Given the description of an element on the screen output the (x, y) to click on. 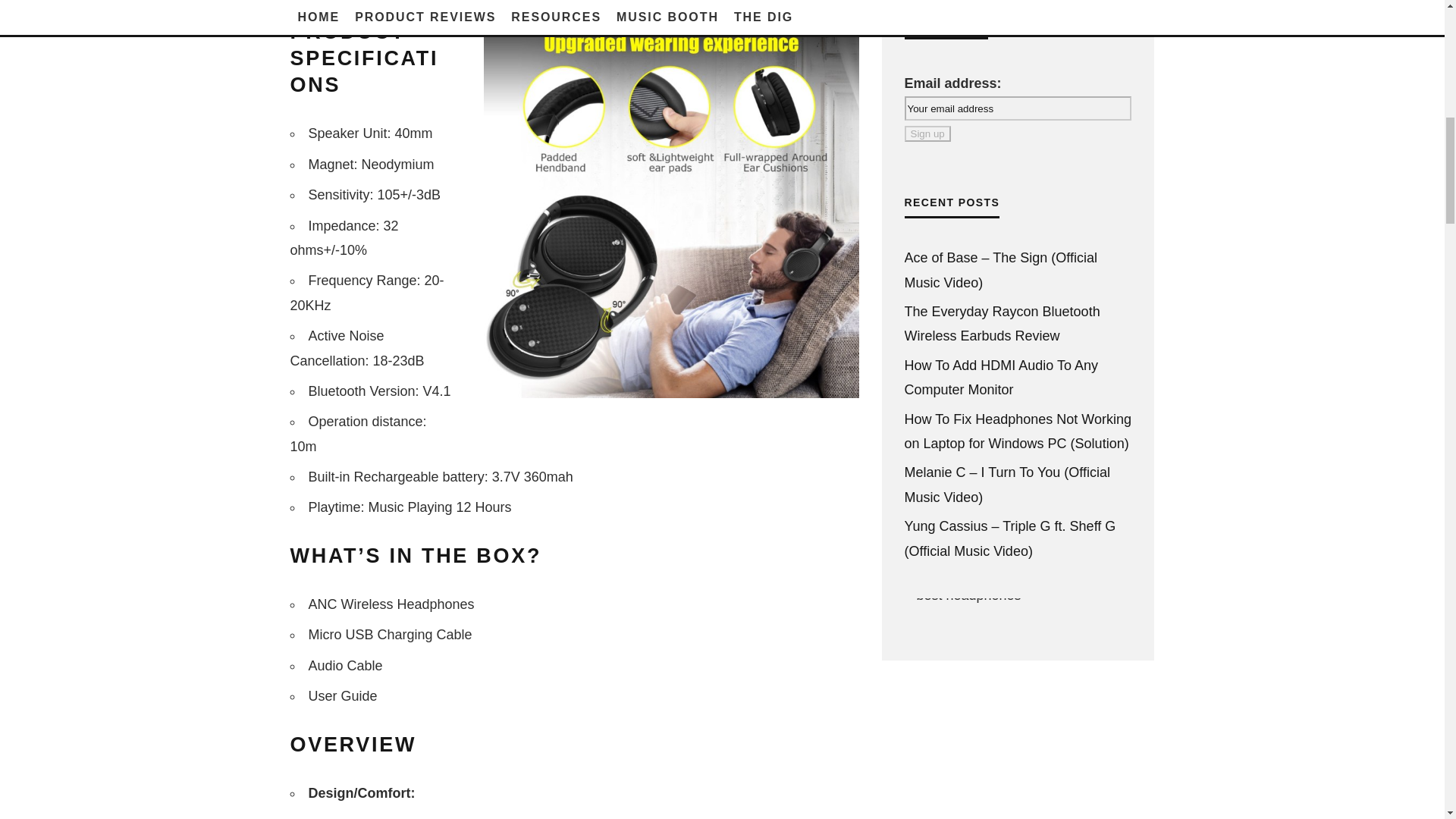
Sign up (927, 133)
